Given the description of an element on the screen output the (x, y) to click on. 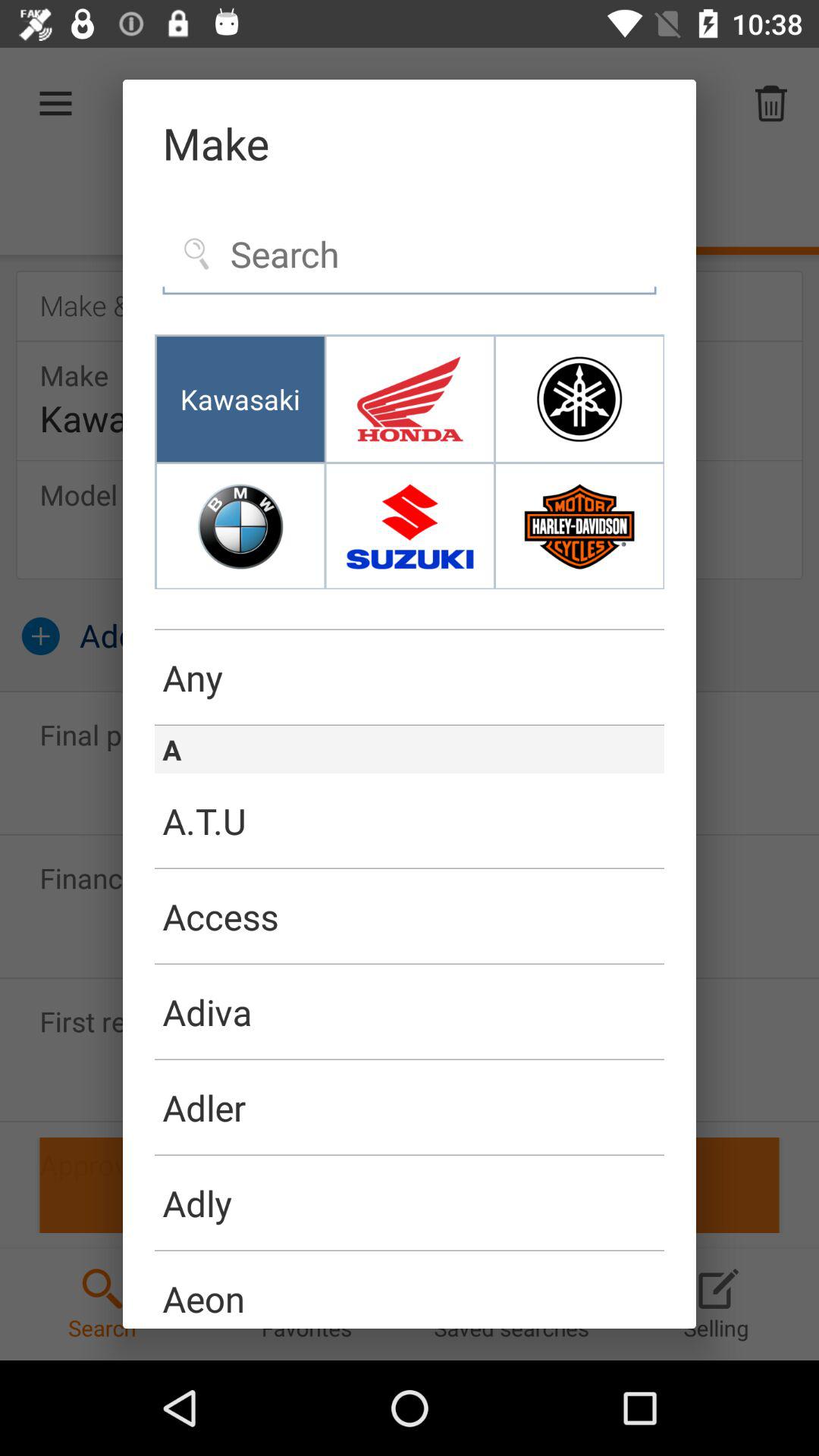
turn off the icon above a item (409, 724)
